Given the description of an element on the screen output the (x, y) to click on. 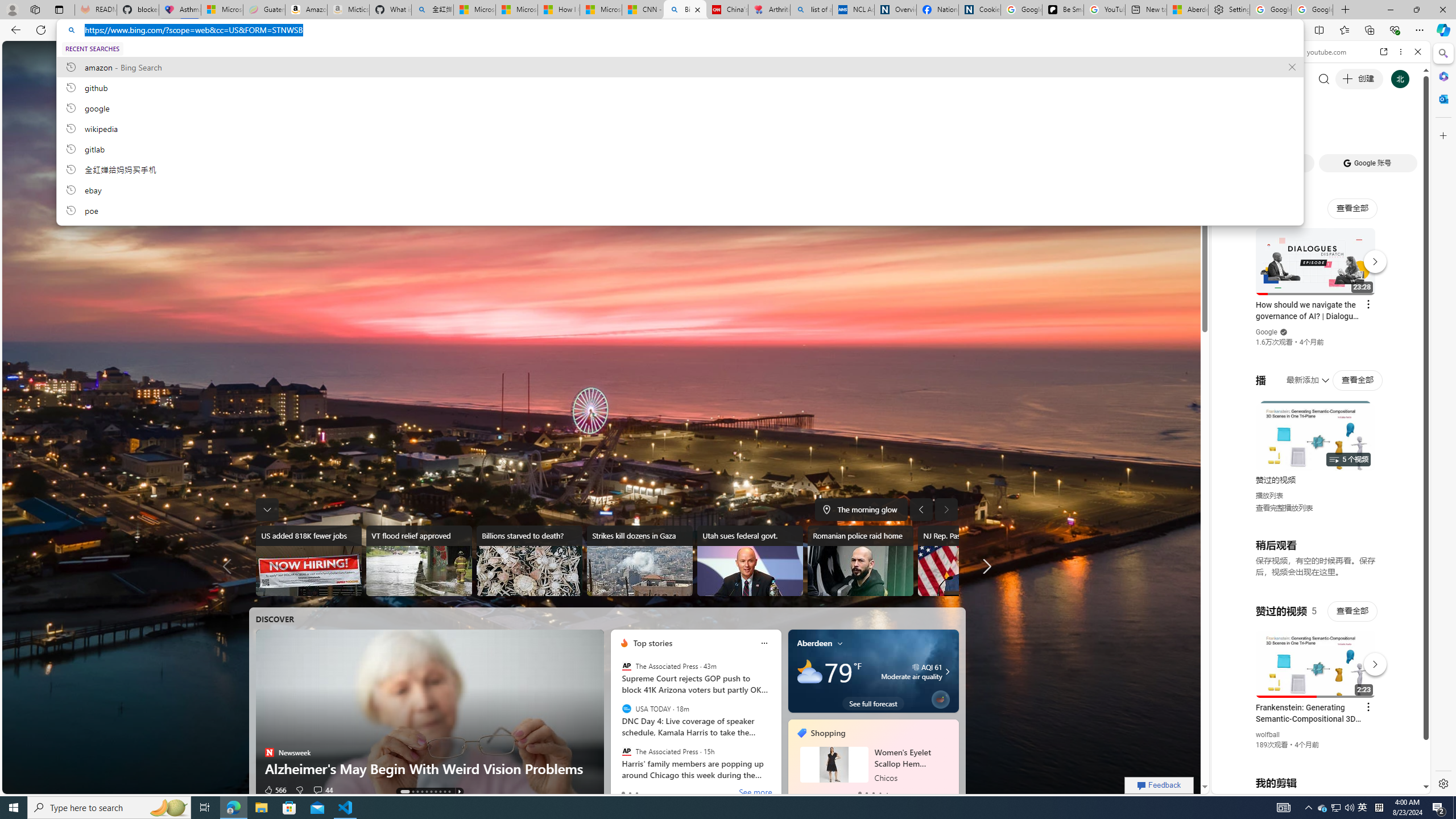
VIDEOS (1300, 130)
Remove suggestion (1291, 66)
The morning glow (860, 508)
Refresh (40, 29)
Copilot (Ctrl+Shift+.) (1442, 29)
To get missing image descriptions, open the context menu. (623, 642)
github, recent searches from history (679, 86)
AutomationID: tab-1 (412, 791)
Settings (1229, 9)
